Given the description of an element on the screen output the (x, y) to click on. 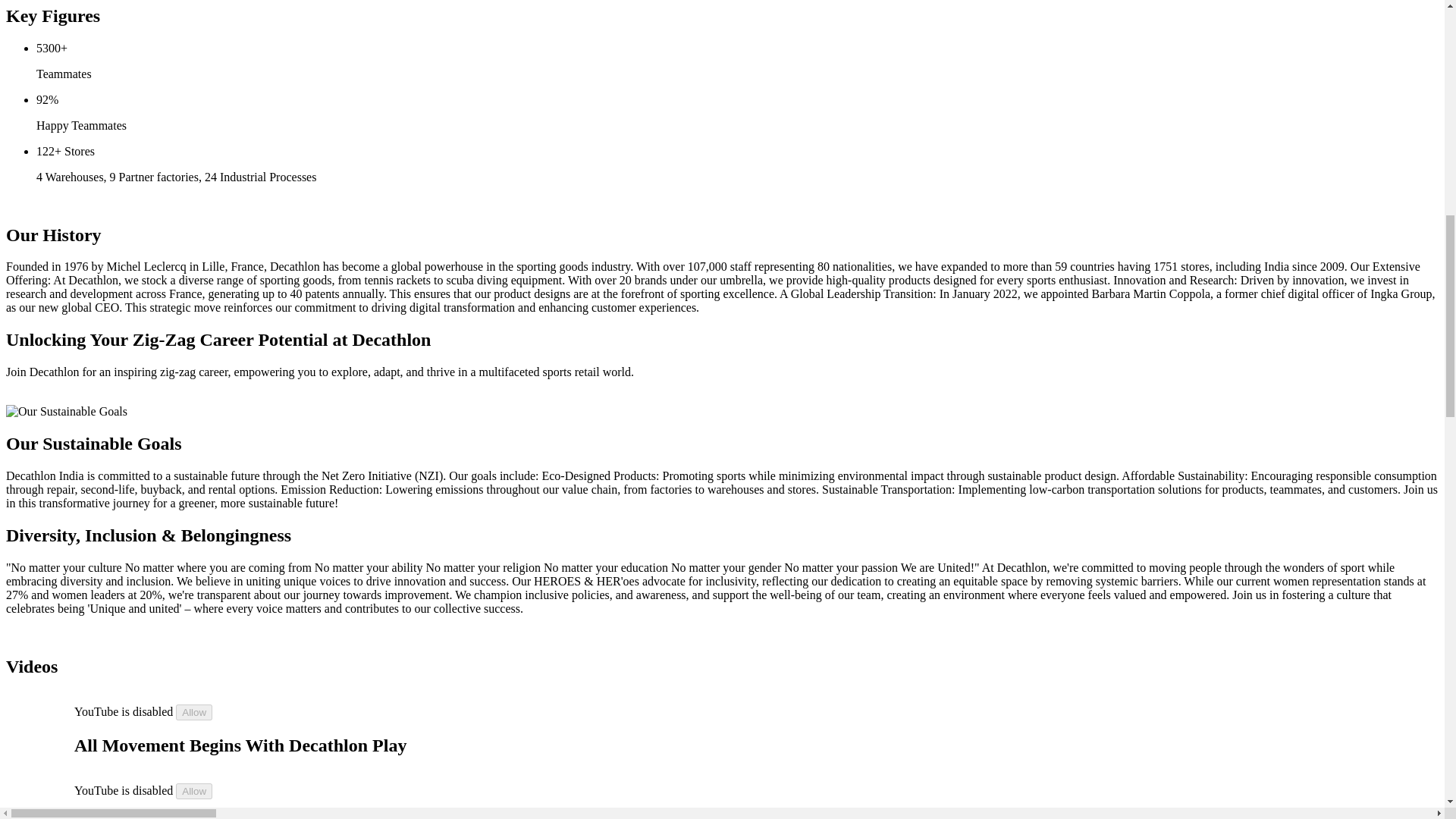
Allow (194, 790)
Allow (194, 712)
